Given the description of an element on the screen output the (x, y) to click on. 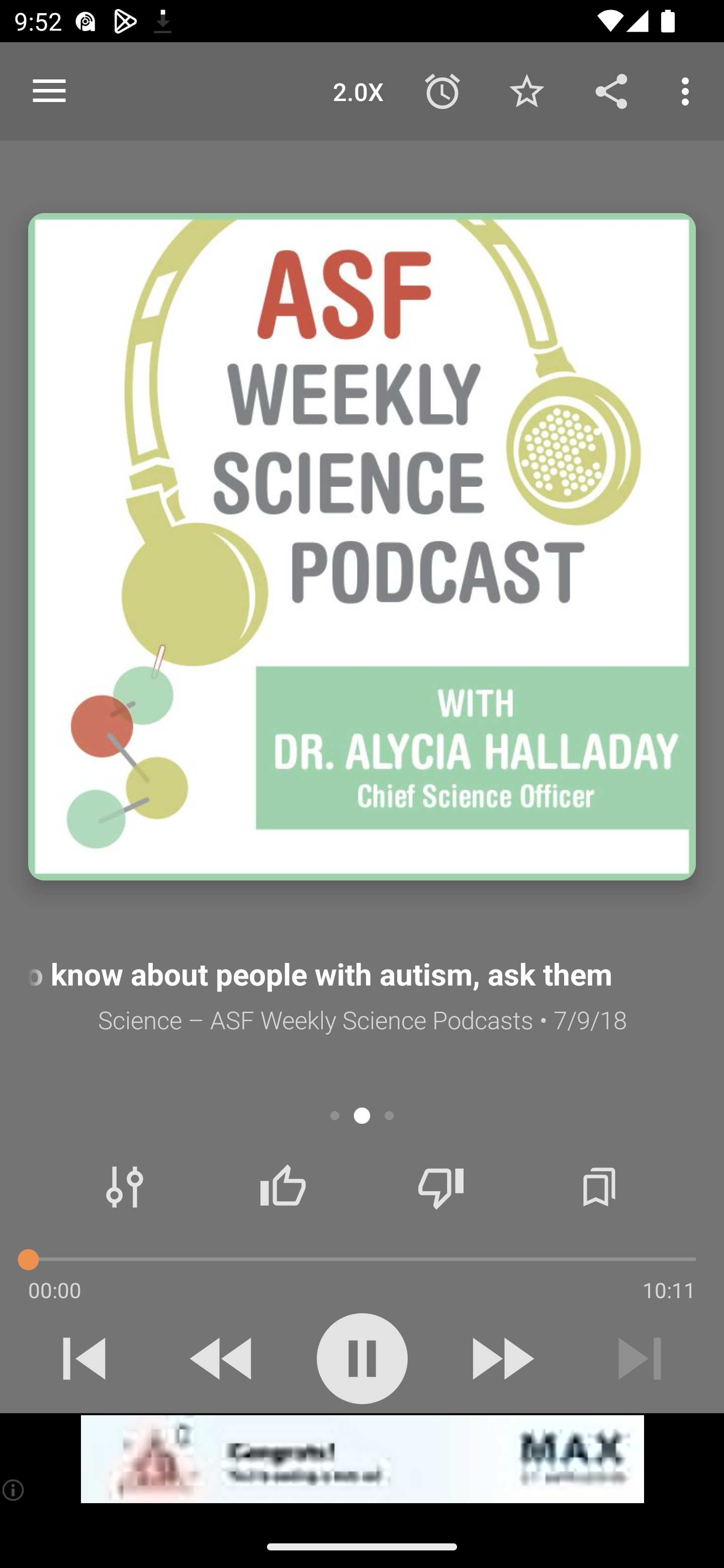
Open navigation sidebar (49, 91)
2.0X (357, 90)
Sleep Timer (442, 90)
Favorite (526, 90)
Share (611, 90)
More options (688, 90)
Episode description (361, 547)
Audio effects (124, 1186)
Thumbs up (283, 1186)
Thumbs down (440, 1186)
Chapters / Bookmarks (598, 1186)
10:11 (668, 1289)
Previous track (84, 1358)
Skip 15s backward (222, 1358)
Play / Pause (362, 1358)
Skip 30s forward (500, 1358)
Next track (639, 1358)
app-monetization (362, 1459)
(i) (14, 1489)
